Given the description of an element on the screen output the (x, y) to click on. 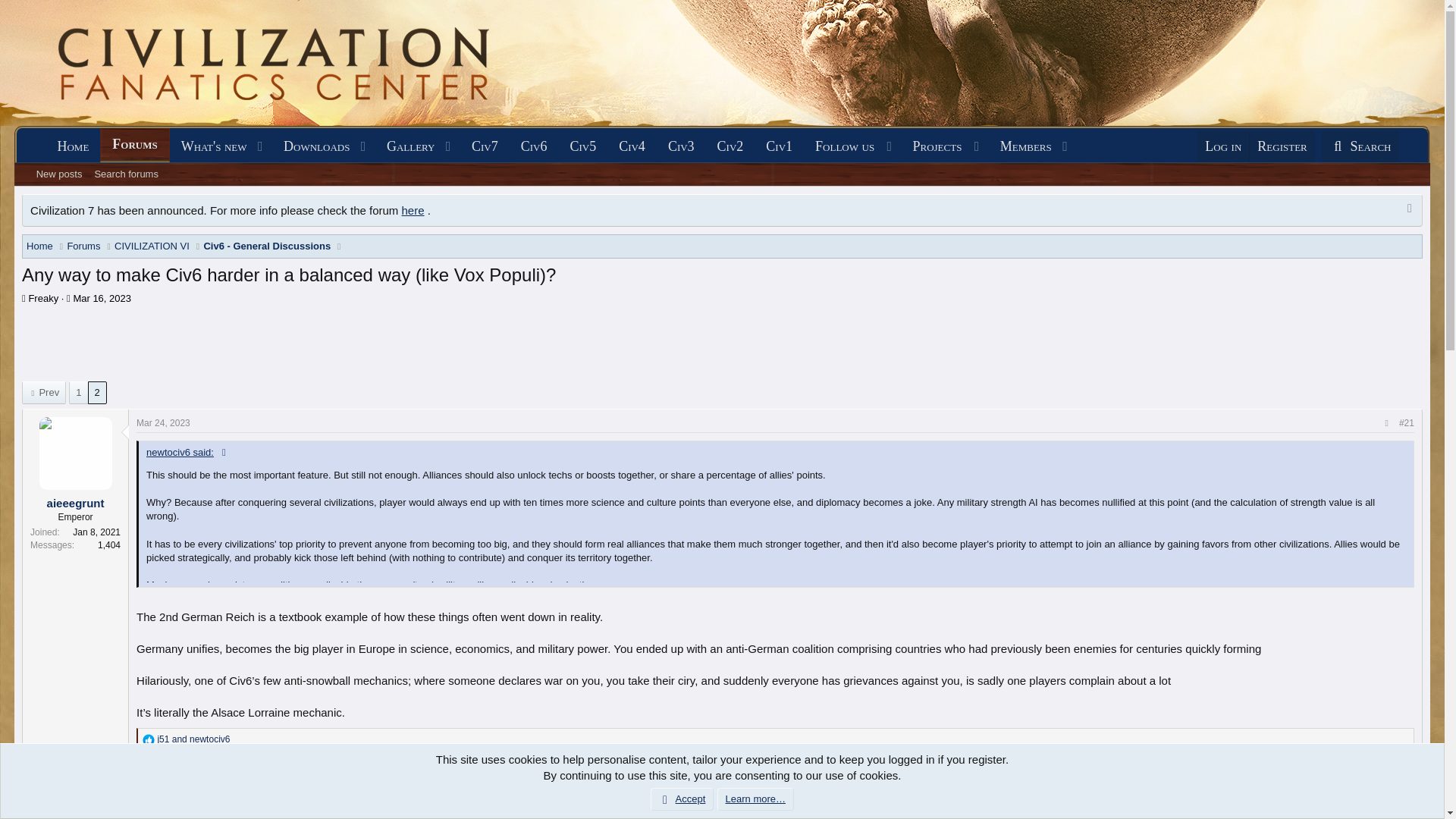
Home (72, 146)
What's new (209, 146)
Mar 25, 2023 at 11:41 PM (163, 778)
Mar 24, 2023 at 4:14 PM (163, 422)
Forums (134, 143)
Gallery (405, 146)
Mar 16, 2023 at 6:04 AM (101, 297)
Like (148, 739)
Search (1360, 146)
Downloads (311, 146)
